Given the description of an element on the screen output the (x, y) to click on. 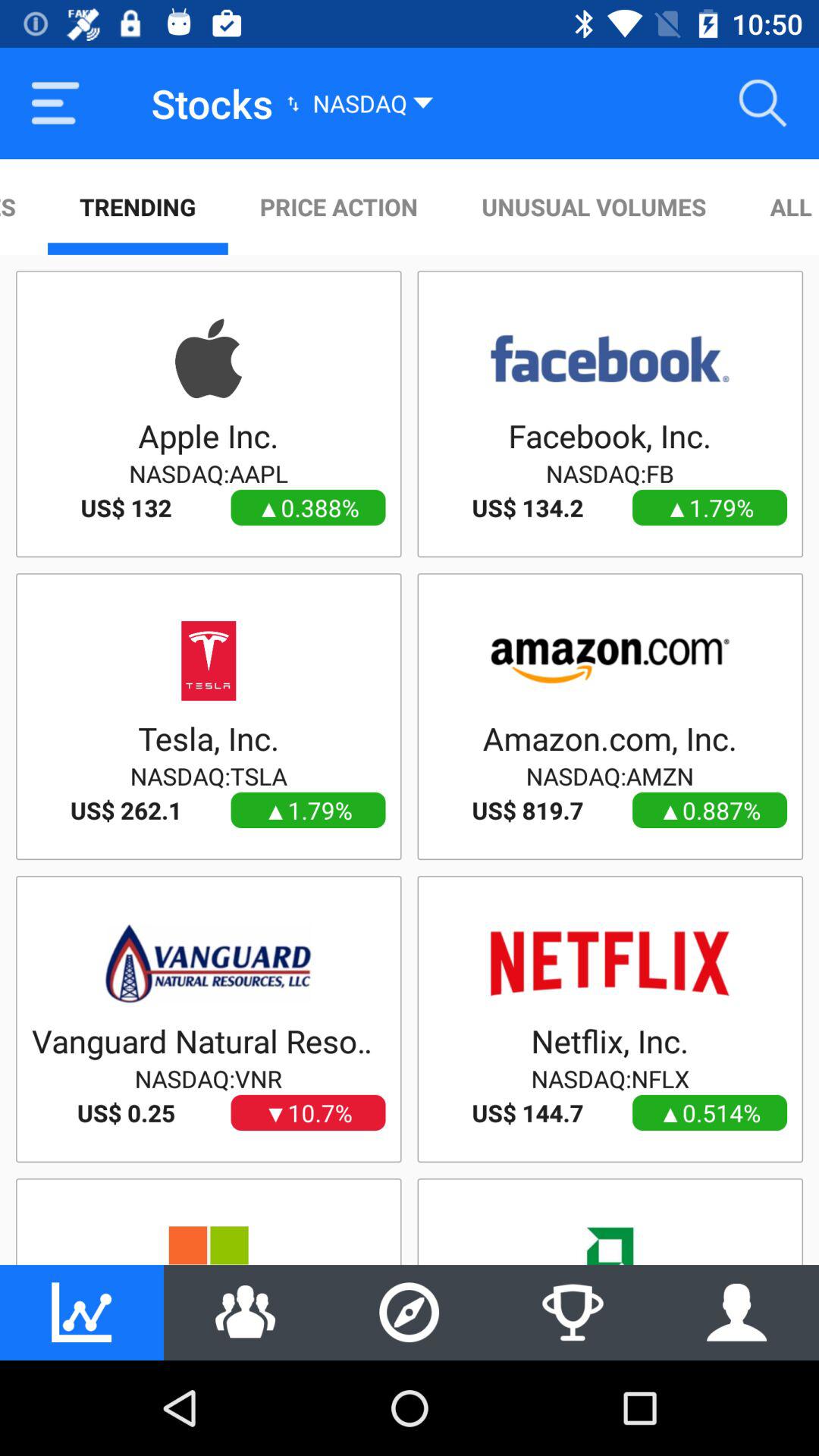
turn on the item to the left of stocks (55, 103)
